Given the description of an element on the screen output the (x, y) to click on. 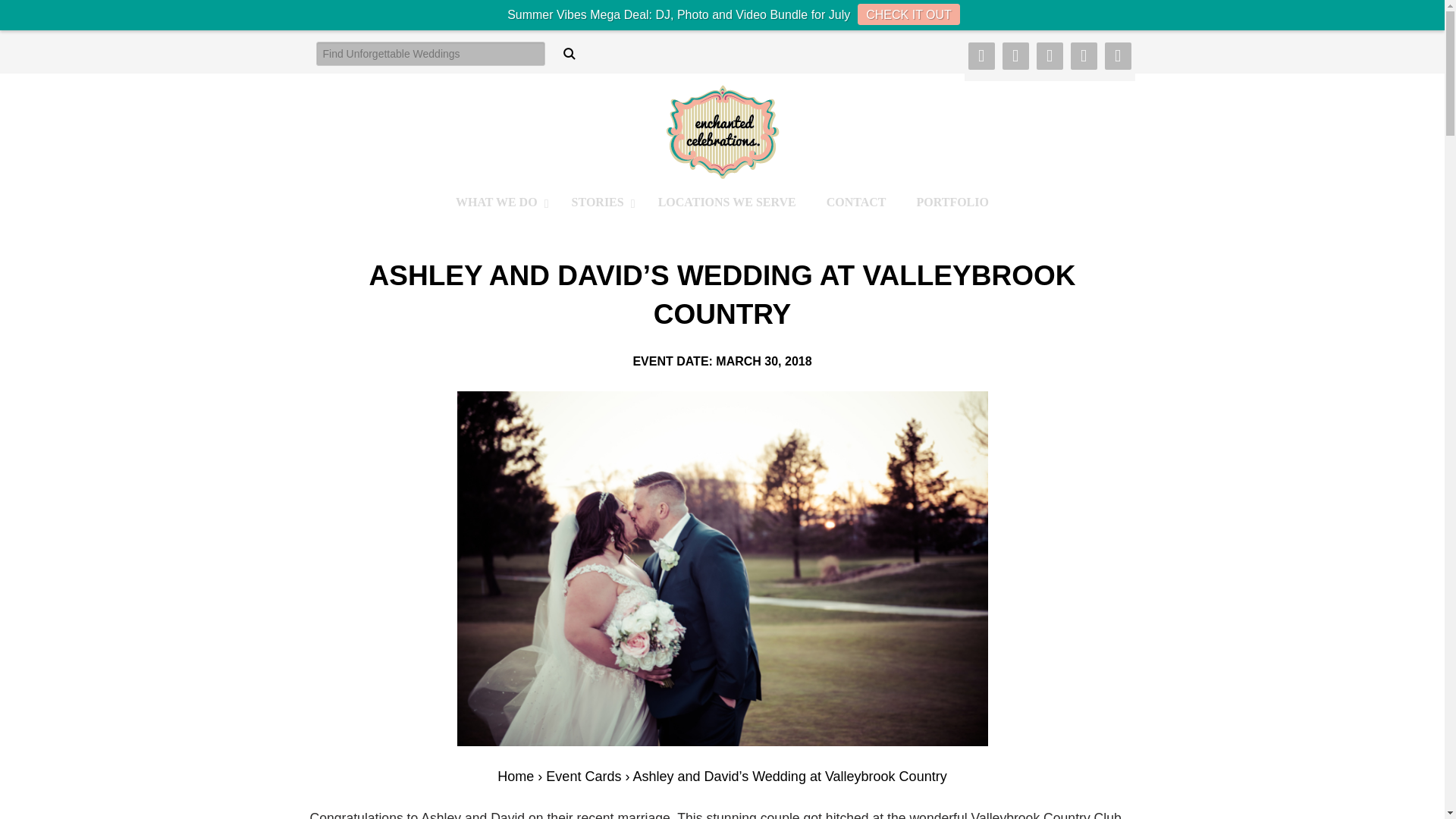
Enchanted Celebrations (722, 131)
